Given the description of an element on the screen output the (x, y) to click on. 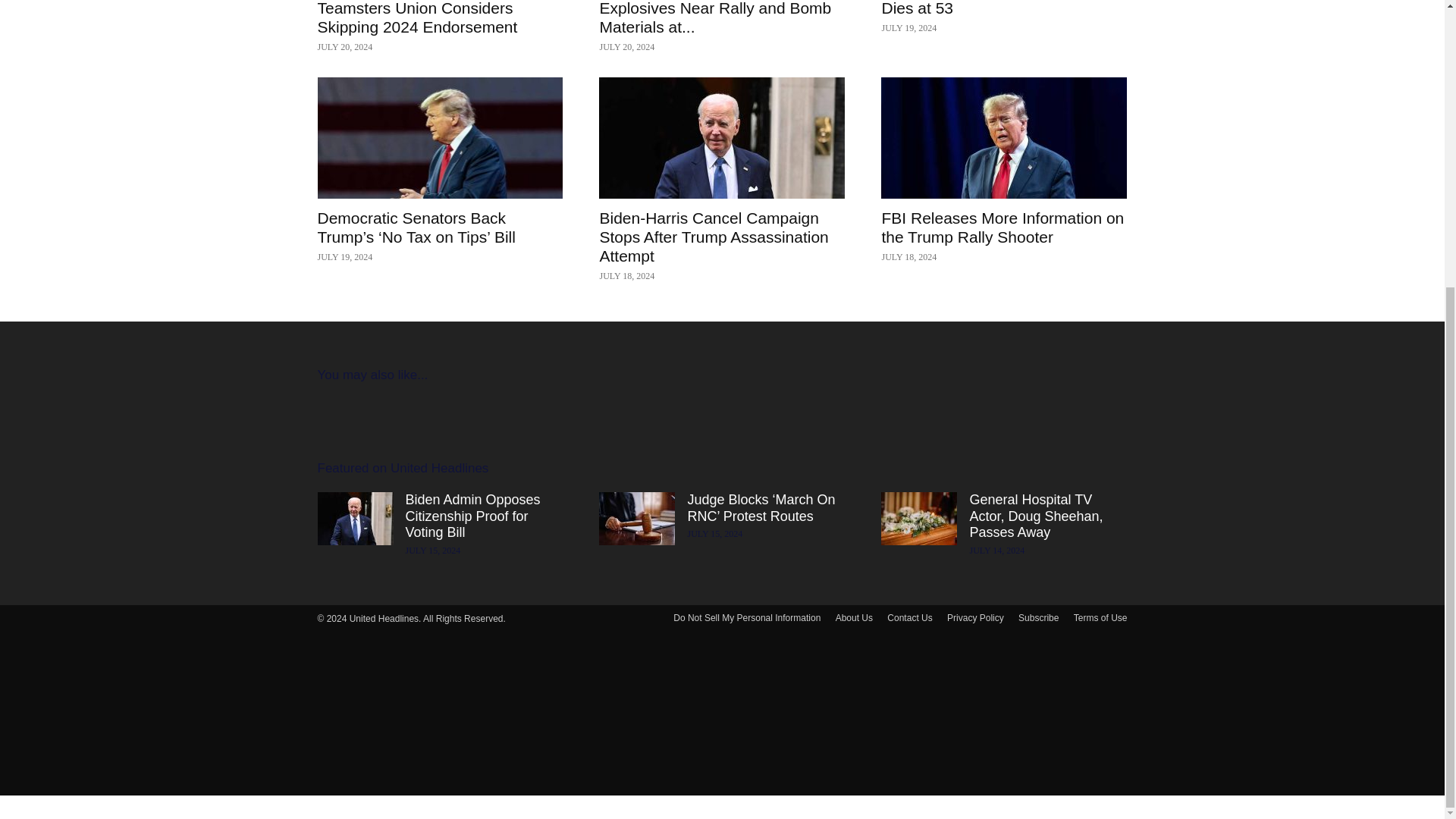
Biden Admin Opposes Citizenship Proof for Voting Bill (472, 515)
Subscribe (1037, 617)
About Us (853, 617)
FBI Releases More Information on the Trump Rally Shooter (1003, 137)
Featured on United Headlines (402, 467)
General Hospital TV Actor, Doug Sheehan, Passes Away (1035, 515)
Do Not Sell My Personal Information (746, 617)
Contact Us (908, 617)
FBI Releases More Information on the Trump Rally Shooter (1002, 227)
